Given the description of an element on the screen output the (x, y) to click on. 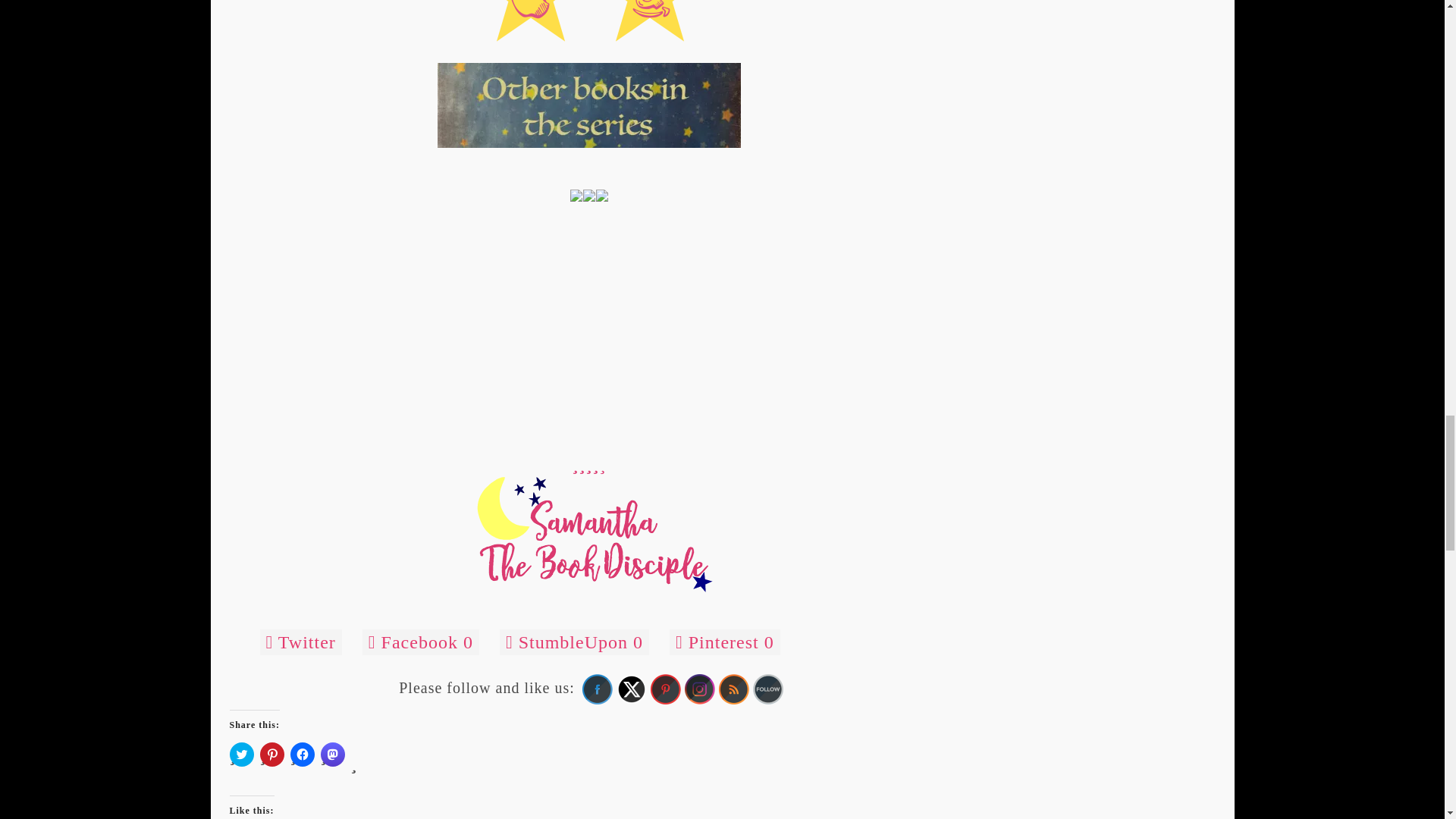
Follow by Email (767, 689)
Instagram (699, 689)
RSS (734, 689)
Facebook (597, 689)
Pinterest (665, 689)
Twitter (630, 689)
